Given the description of an element on the screen output the (x, y) to click on. 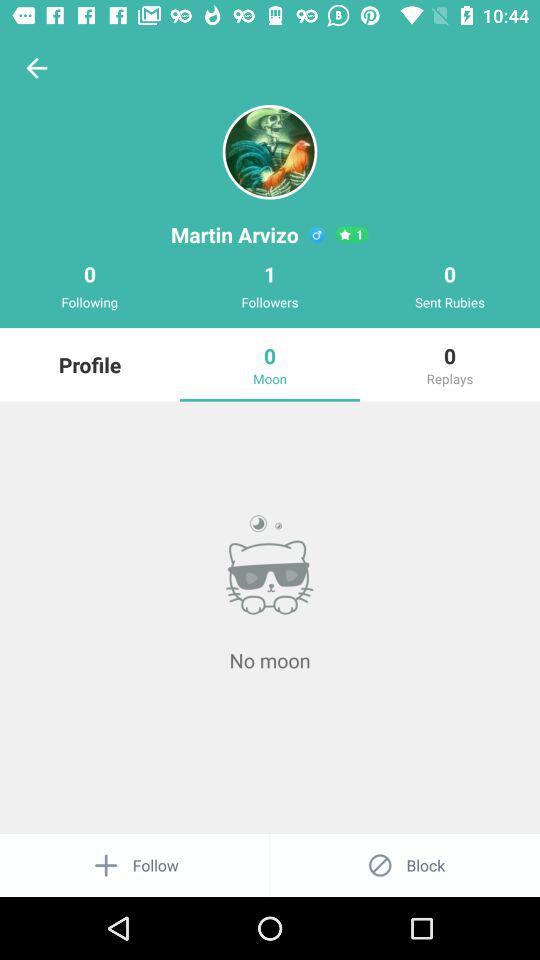
click the item above following icon (36, 68)
